Given the description of an element on the screen output the (x, y) to click on. 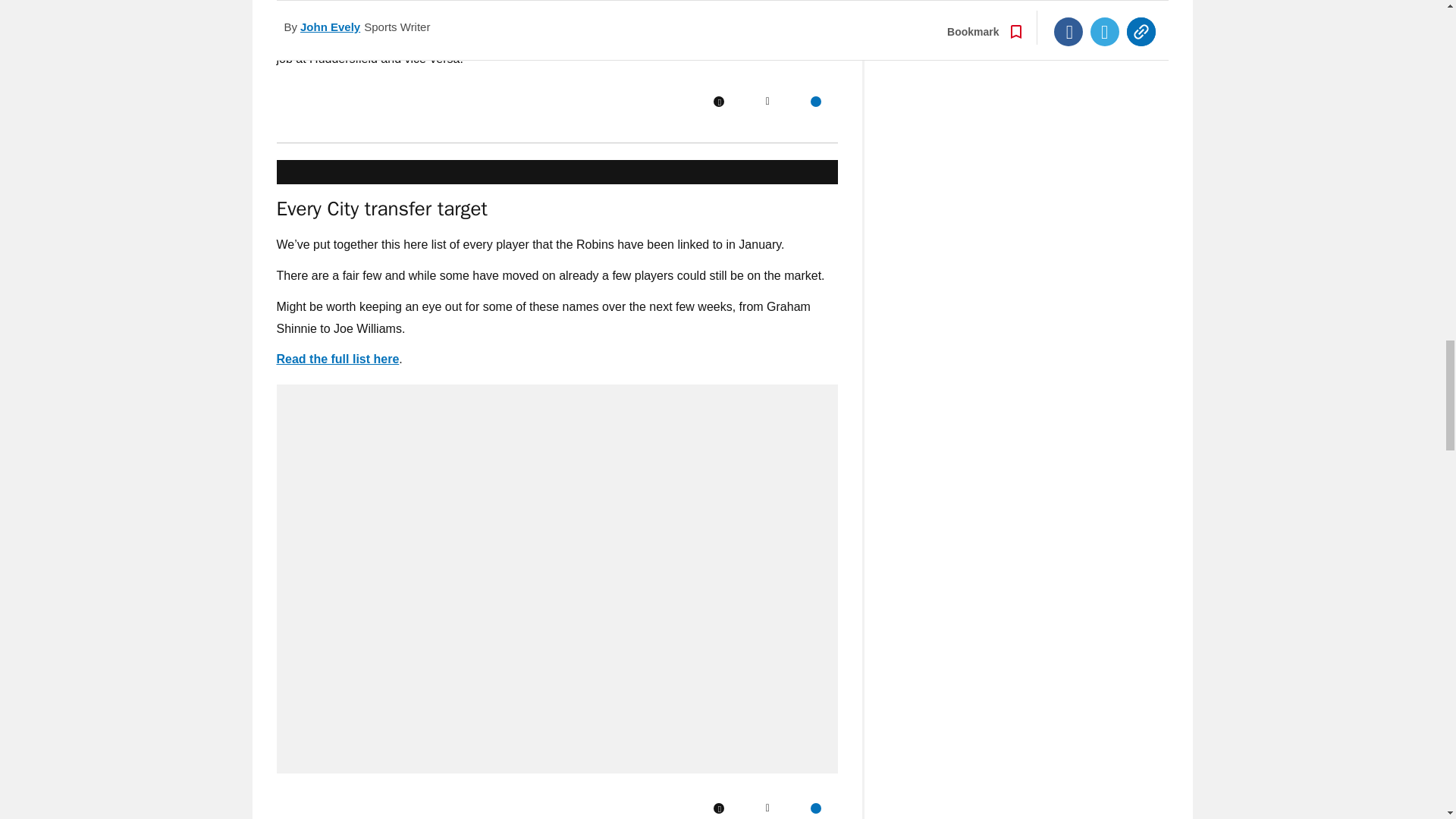
Twitter (767, 101)
Facebook (718, 808)
Facebook (718, 101)
Twitter (767, 808)
